Given the description of an element on the screen output the (x, y) to click on. 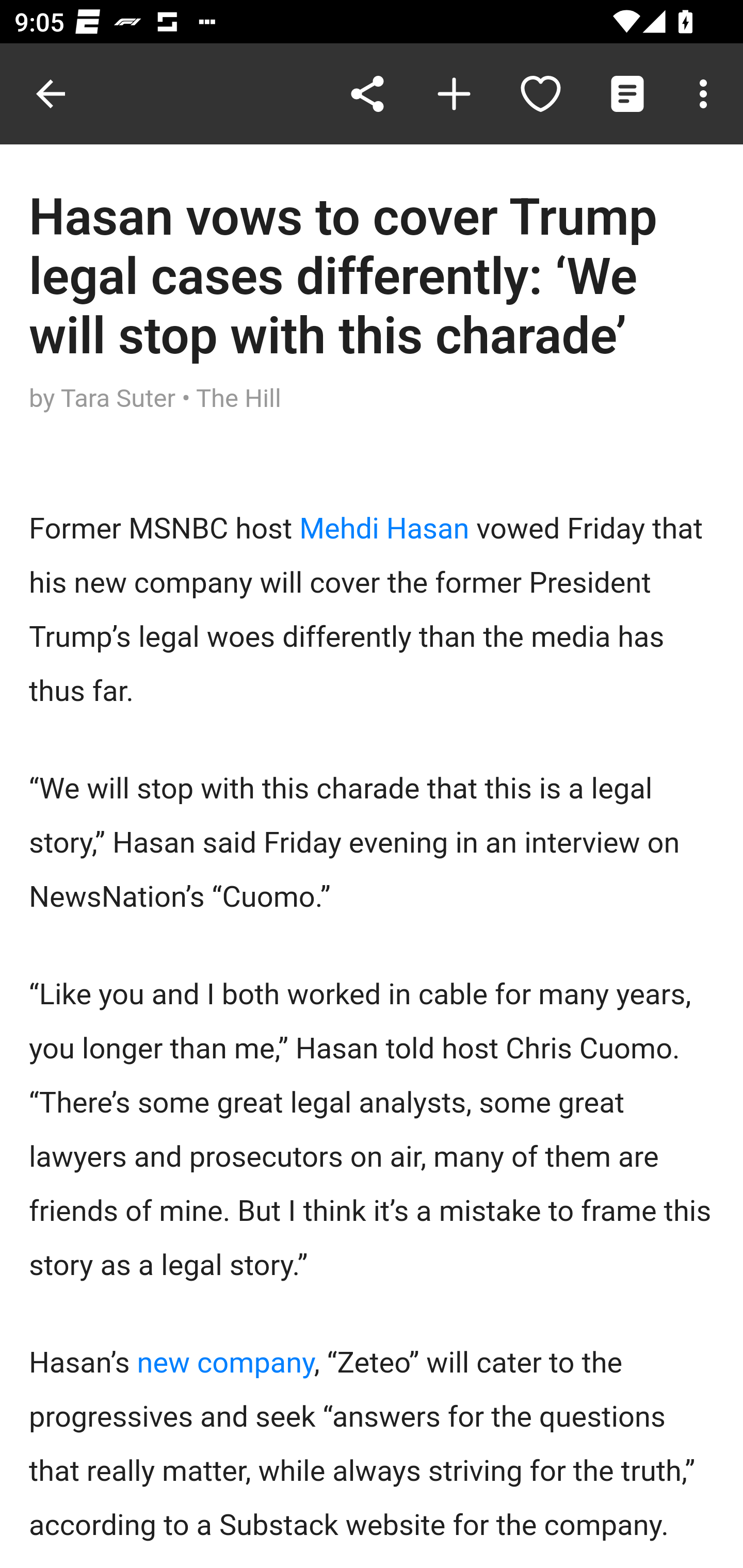
Back (50, 93)
Share (366, 93)
Flip (453, 93)
Like (540, 93)
Reader View (626, 93)
More options (706, 93)
Mehdi Hasan  (387, 529)
new company (225, 1363)
